Given the description of an element on the screen output the (x, y) to click on. 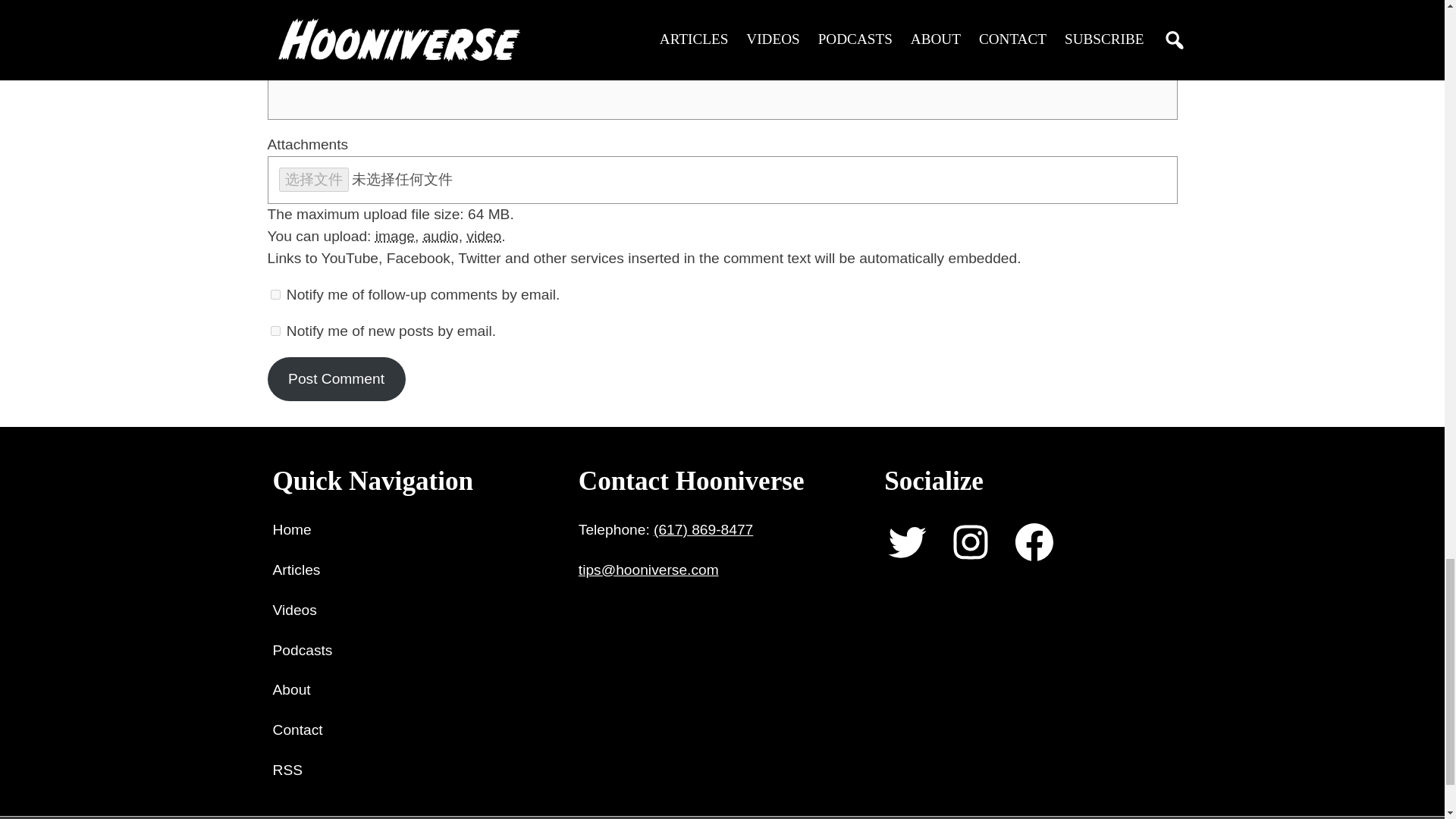
Videos (295, 610)
Post Comment (335, 379)
subscribe (274, 294)
Home (292, 530)
subscribe (274, 330)
Facebook (1034, 542)
Articles (296, 570)
Twitter (906, 542)
Podcasts (303, 650)
Post Comment (335, 379)
About (292, 690)
Instagram (969, 542)
mp3, m4a, m4b, aac, ram, wav, ogg, oga, flac, wma, mka (440, 236)
Contact (298, 730)
RSS (287, 771)
